Given the description of an element on the screen output the (x, y) to click on. 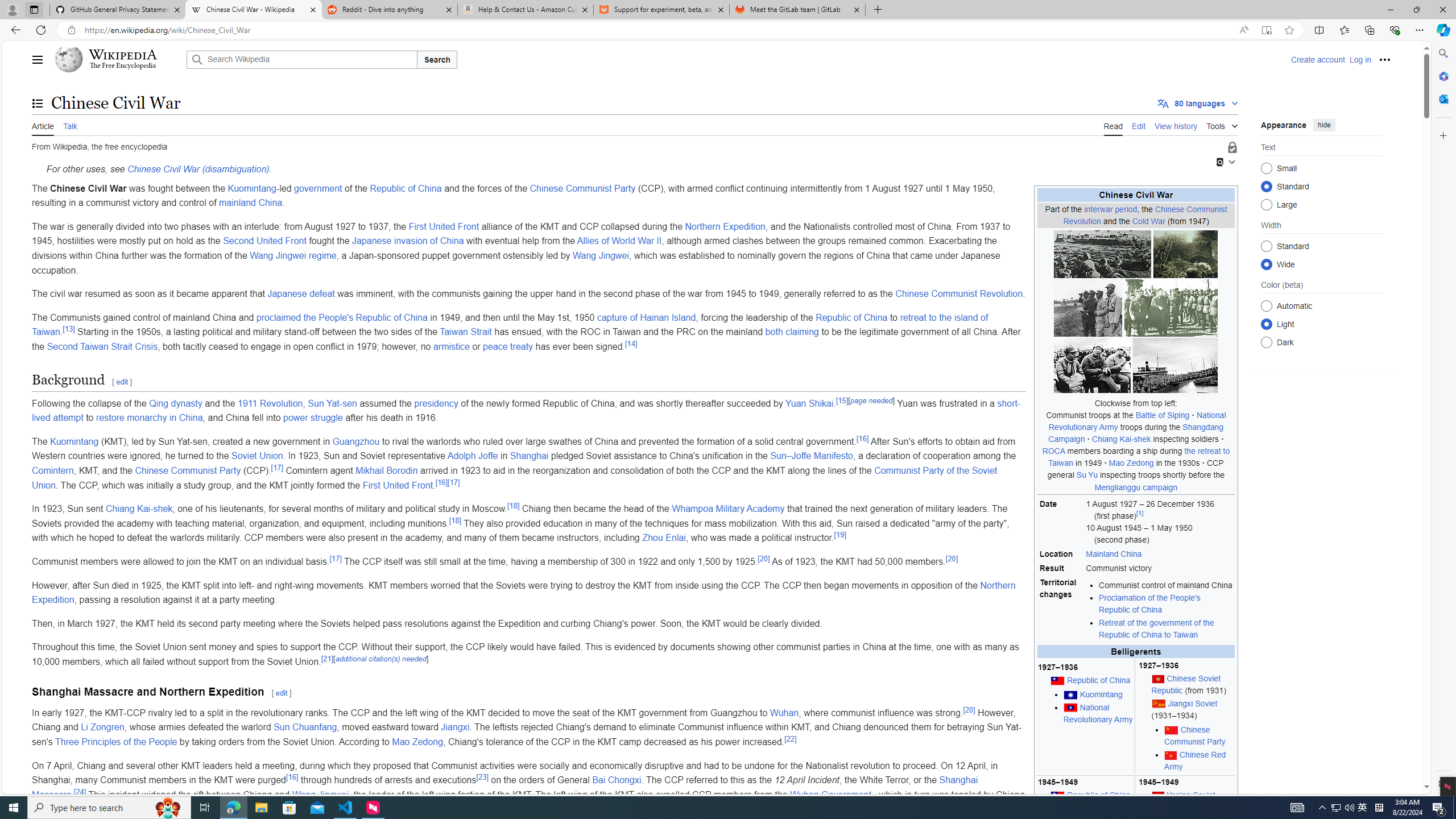
Small (1266, 167)
Wikipedia The Free Encyclopedia (117, 59)
Northern Expedition (524, 592)
presidency (435, 403)
Yan'an Soviet (1190, 794)
Retreat of the government of the Republic of China to Taiwan (1156, 628)
Retreat of the government of the Republic of China to Taiwan (1166, 628)
Guangzhou (355, 441)
Yuan Shikai (809, 403)
government (318, 188)
Soviet Union (257, 456)
